Given the description of an element on the screen output the (x, y) to click on. 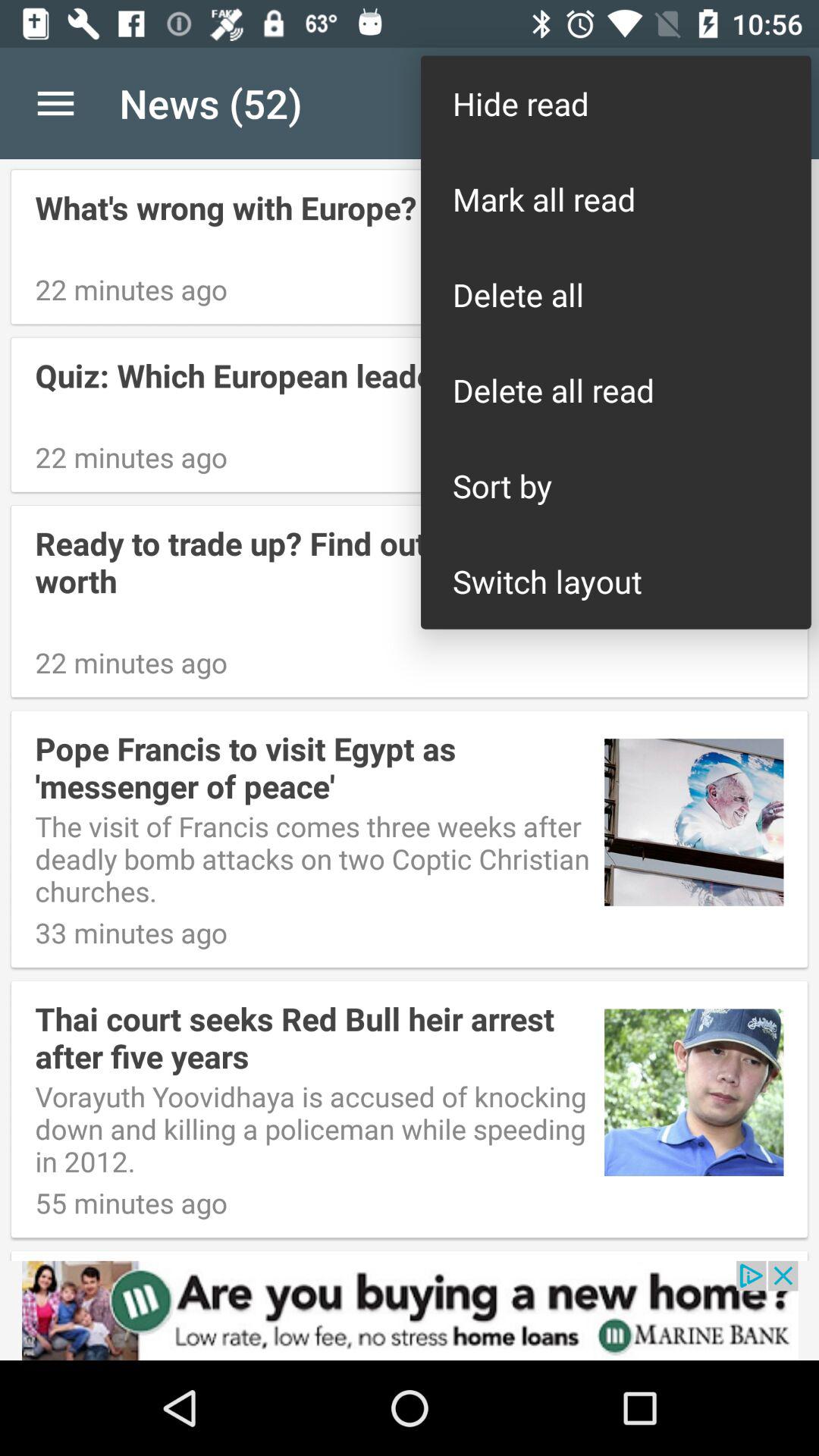
select the entire text and image which are just below the 22 minutes ago (409, 839)
